Given the description of an element on the screen output the (x, y) to click on. 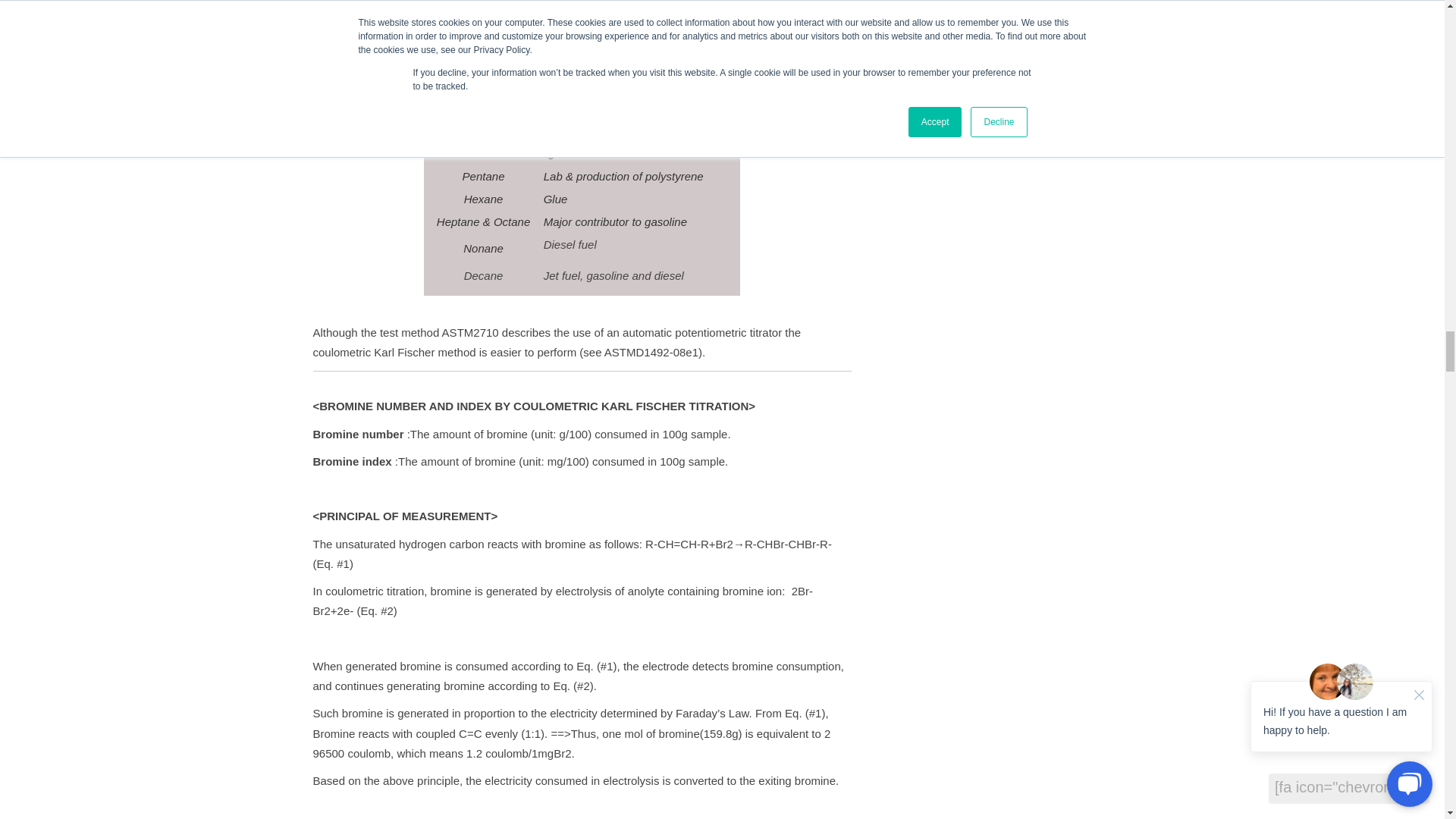
Page 69 (582, 601)
Page 69 (582, 448)
Page 69 (582, 760)
